Given the description of an element on the screen output the (x, y) to click on. 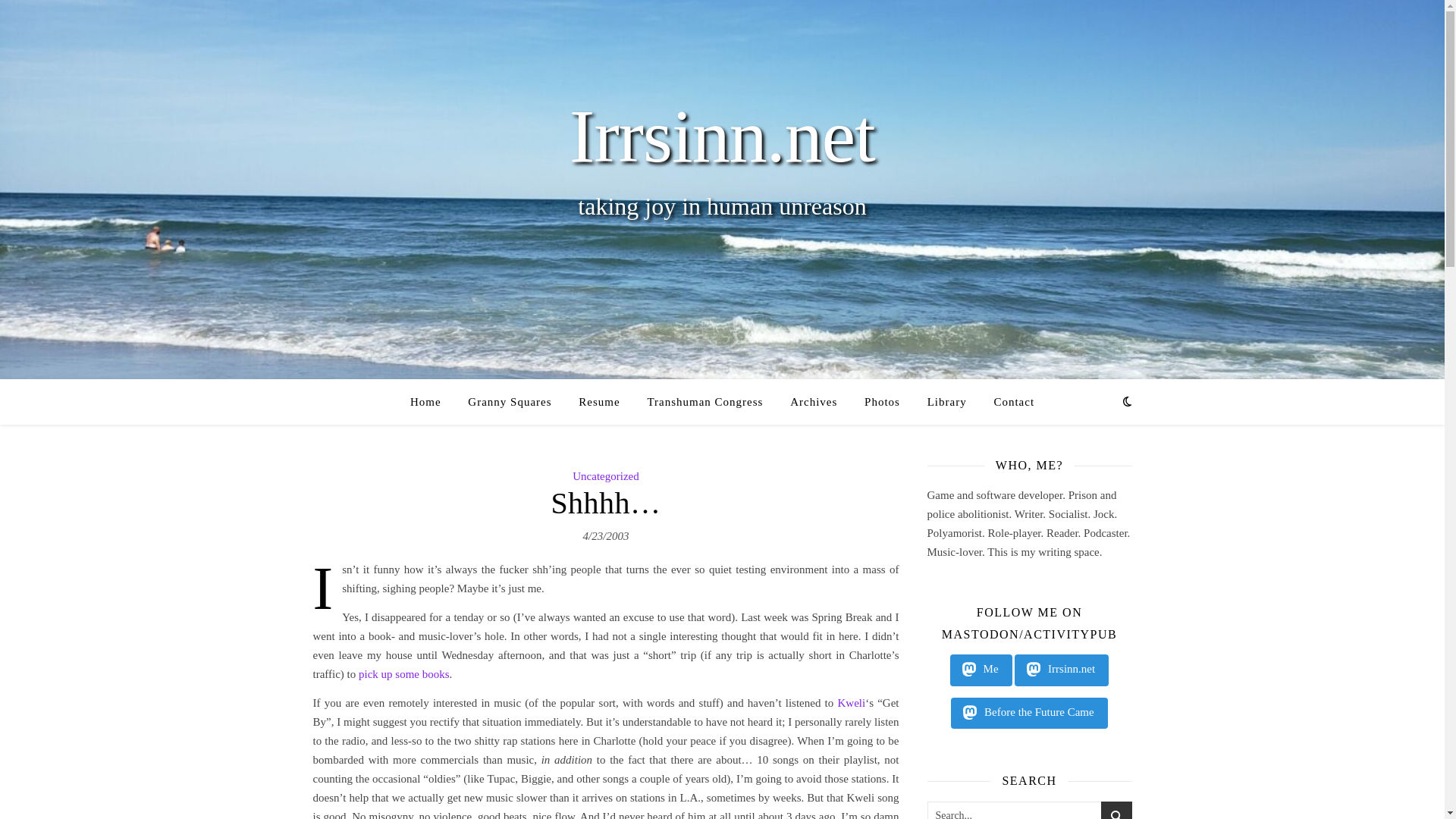
Contact (1007, 402)
Irrsinn.net (722, 135)
Before the Future Came (1028, 712)
pick up some books (403, 673)
Archives (812, 402)
Resume (598, 402)
Photos (881, 402)
Library (946, 402)
Kweli (850, 702)
Me (980, 669)
Irrsinn.net (1061, 669)
Granny Squares (509, 402)
st (1116, 810)
Home (431, 402)
Transhuman Congress (704, 402)
